Given the description of an element on the screen output the (x, y) to click on. 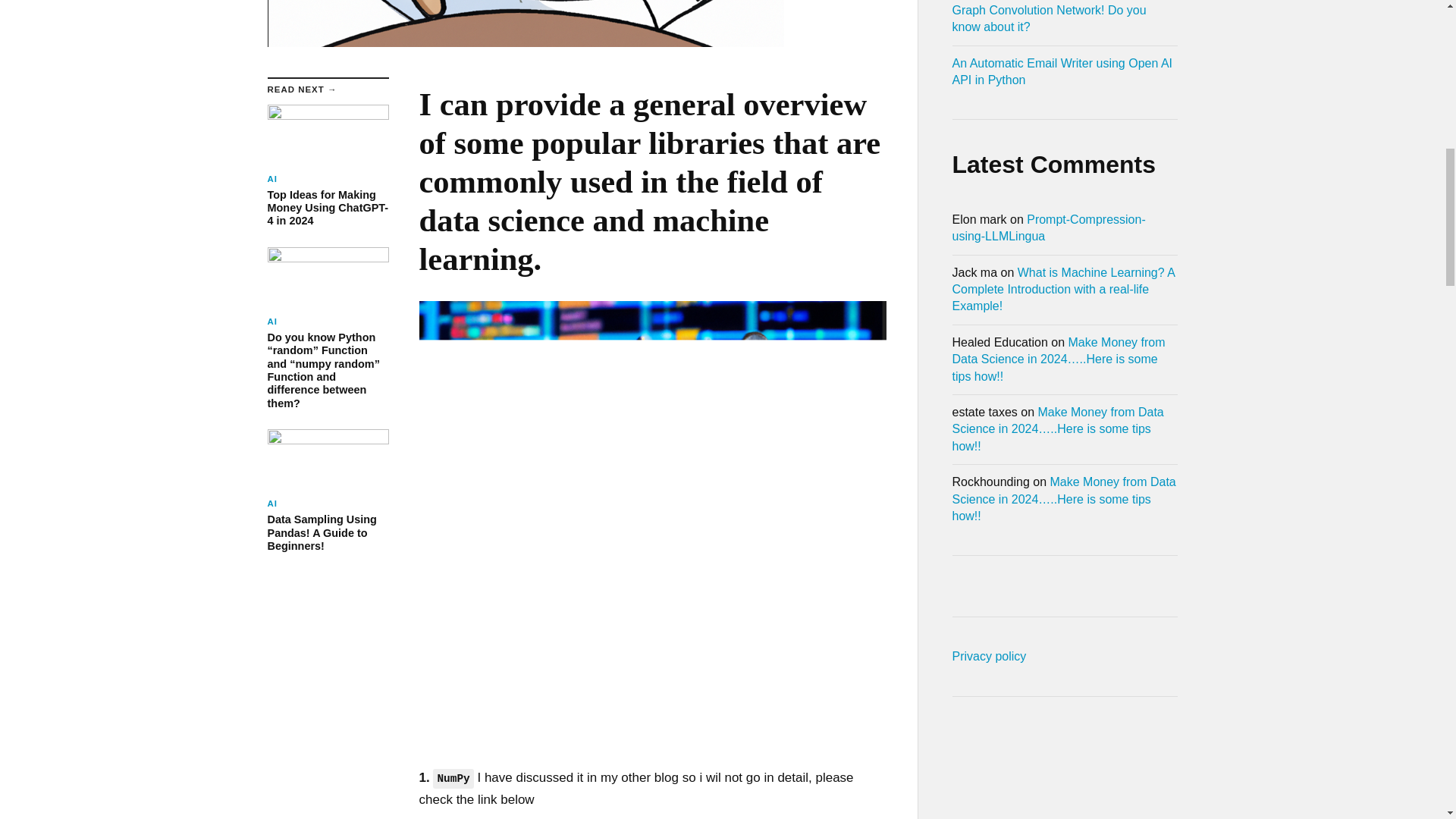
An Automatic Email Writer using Open AI API in Python (327, 490)
Privacy policy (1062, 71)
Graph Convolution Network! Do you know about it? (989, 656)
Prompt-Compression-using-LLMLingua (327, 166)
